Given the description of an element on the screen output the (x, y) to click on. 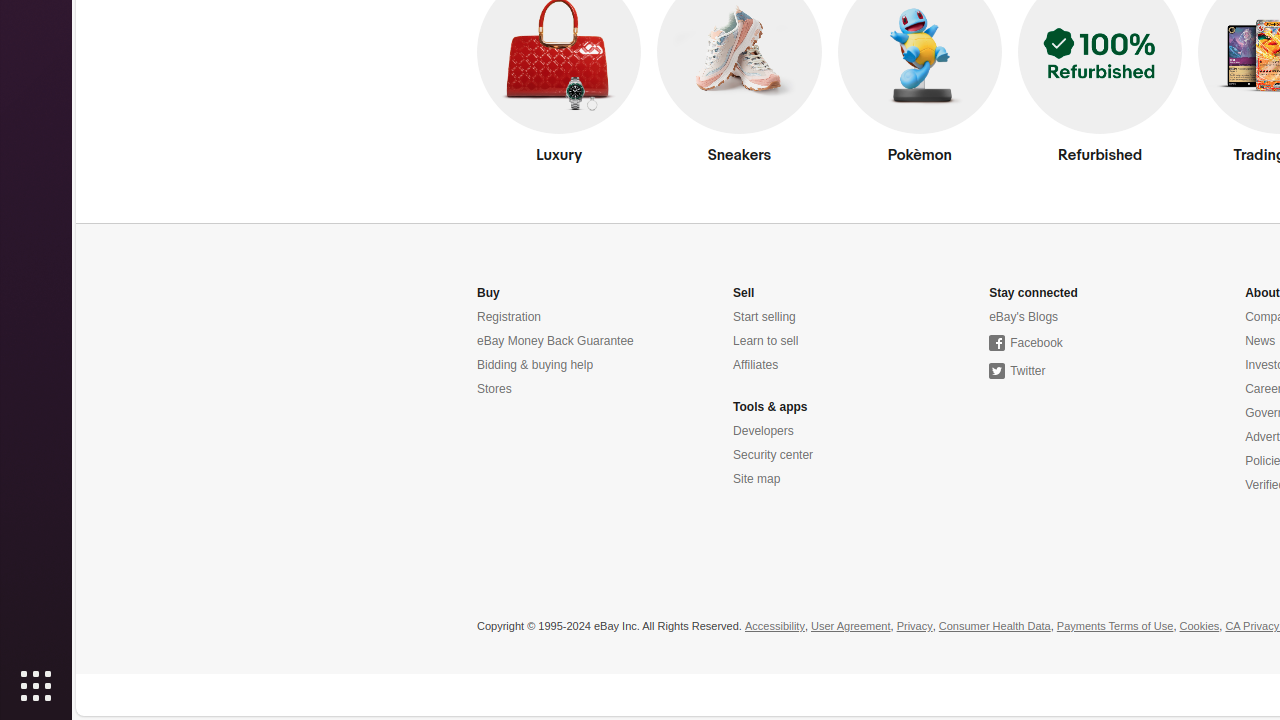
Buy Element type: link (488, 293)
Show Applications Element type: toggle-button (36, 686)
